Given the description of an element on the screen output the (x, y) to click on. 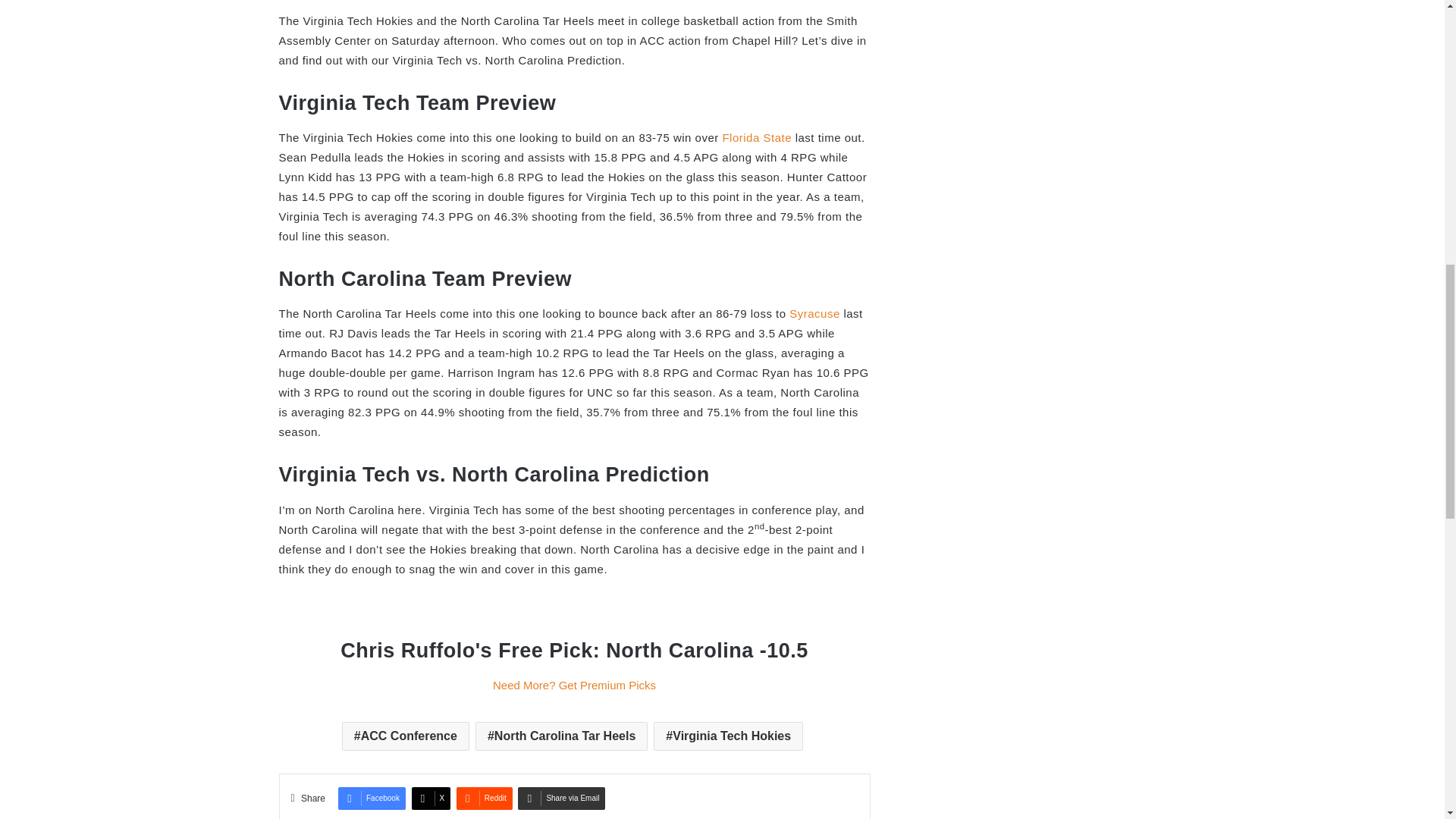
Facebook (371, 798)
Share via Email (561, 798)
Reddit (484, 798)
X (431, 798)
